Given the description of an element on the screen output the (x, y) to click on. 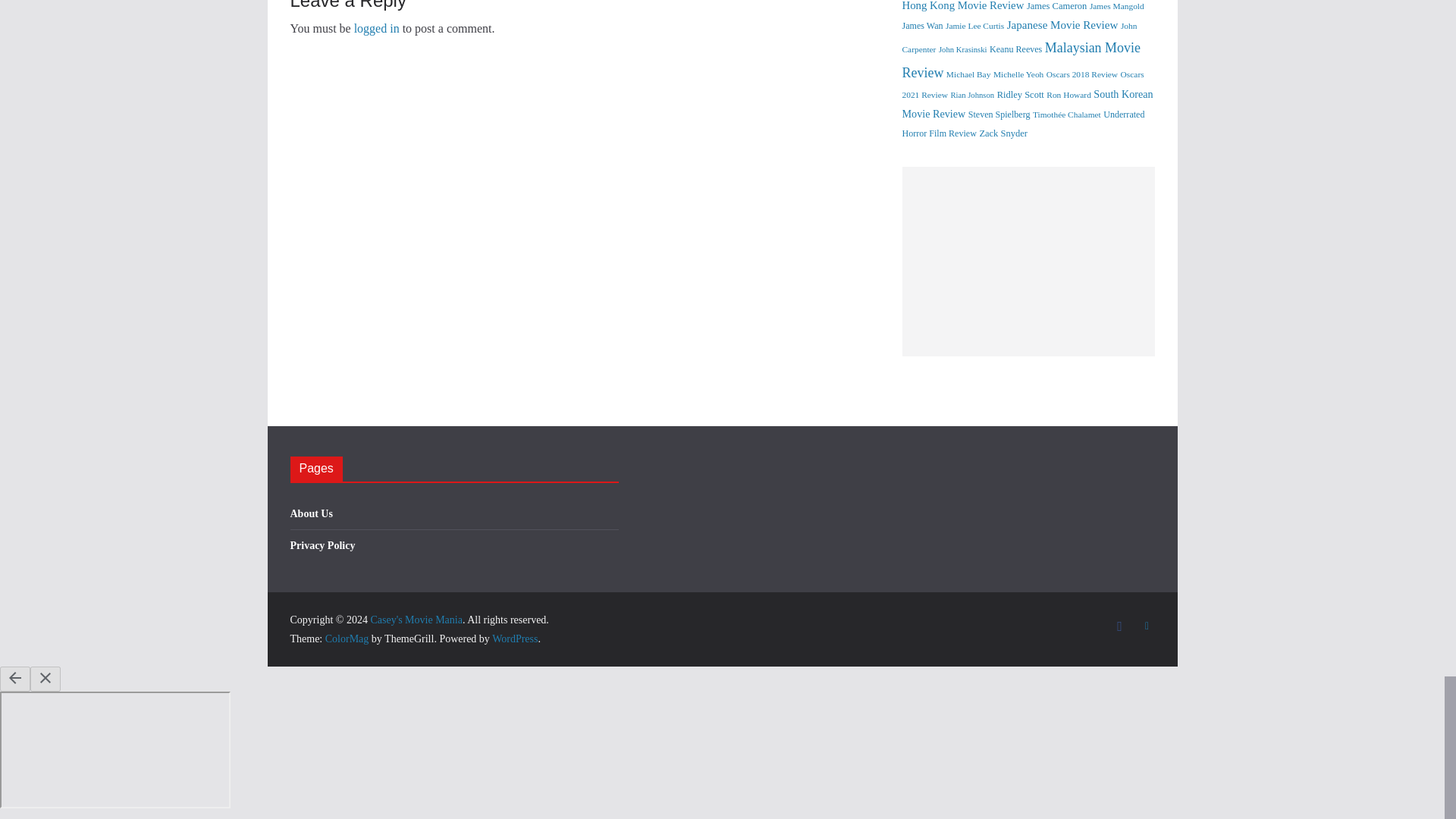
logged in (375, 28)
